Given the description of an element on the screen output the (x, y) to click on. 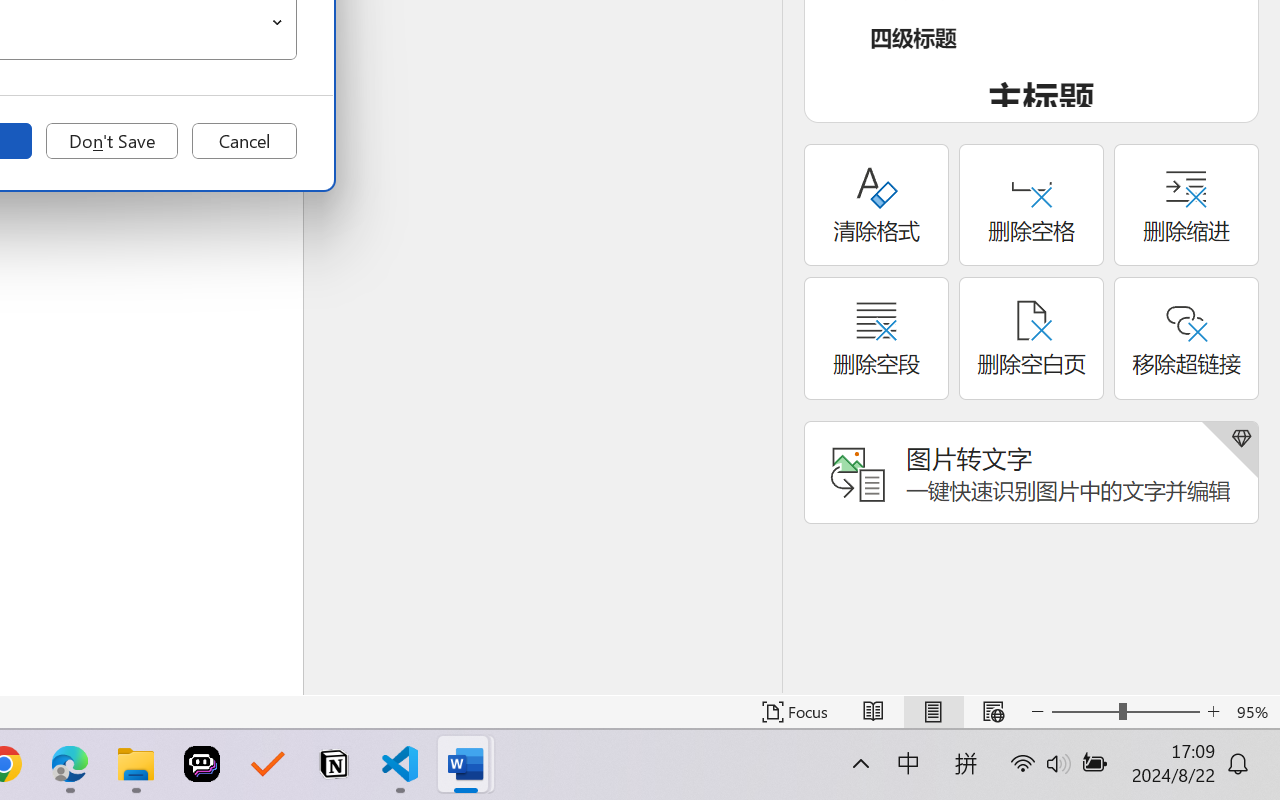
Don't Save (111, 141)
